Given the description of an element on the screen output the (x, y) to click on. 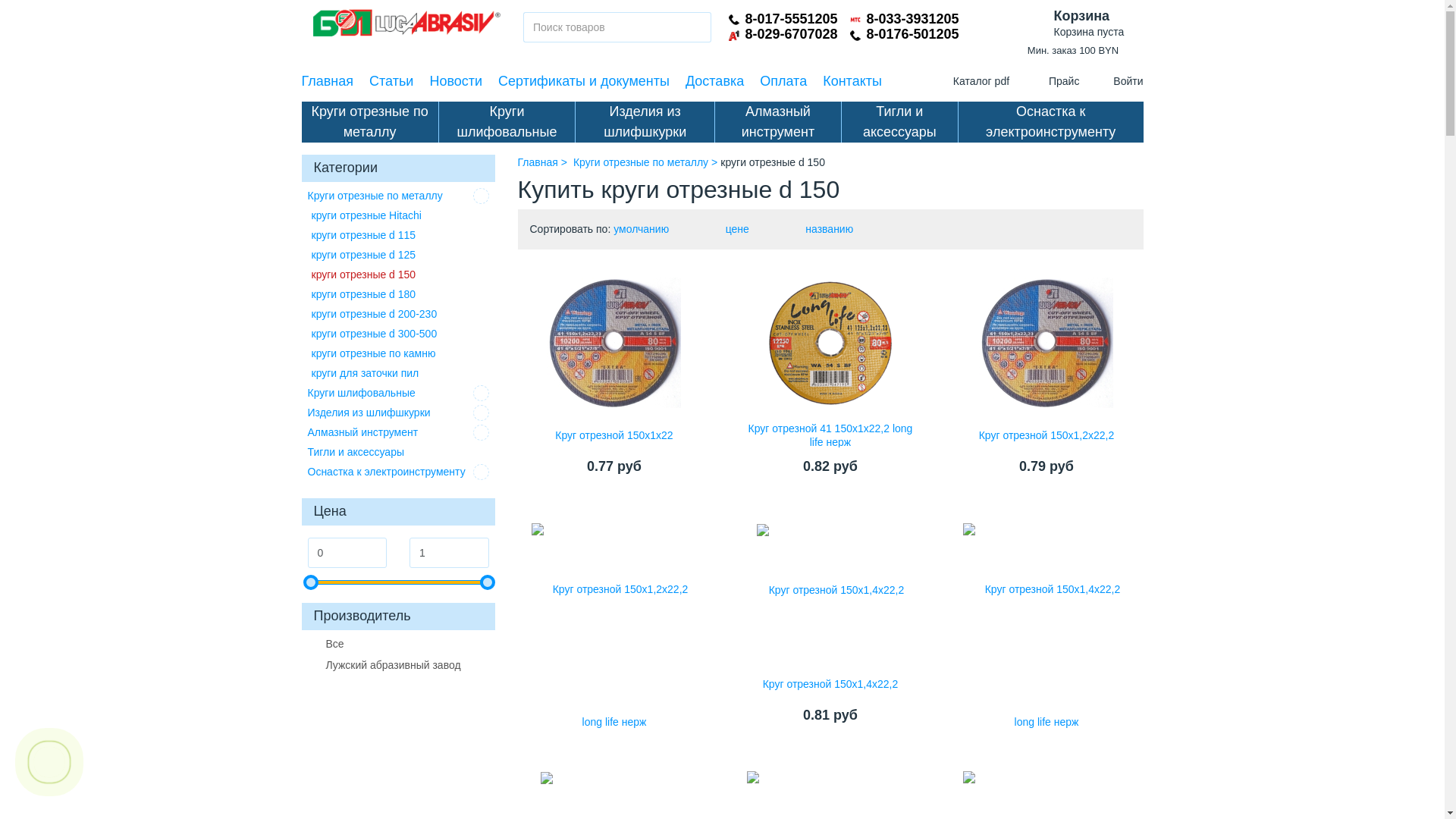
Telephone Element type: hover (854, 34)
8-0176-501205 Element type: text (910, 33)
8-017-5551205 Element type: text (789, 18)
8-033-3931205 Element type: text (910, 18)
8-029-6707028 Element type: text (789, 33)
Telephone Element type: hover (733, 19)
A1 Element type: hover (733, 34)
